Given the description of an element on the screen output the (x, y) to click on. 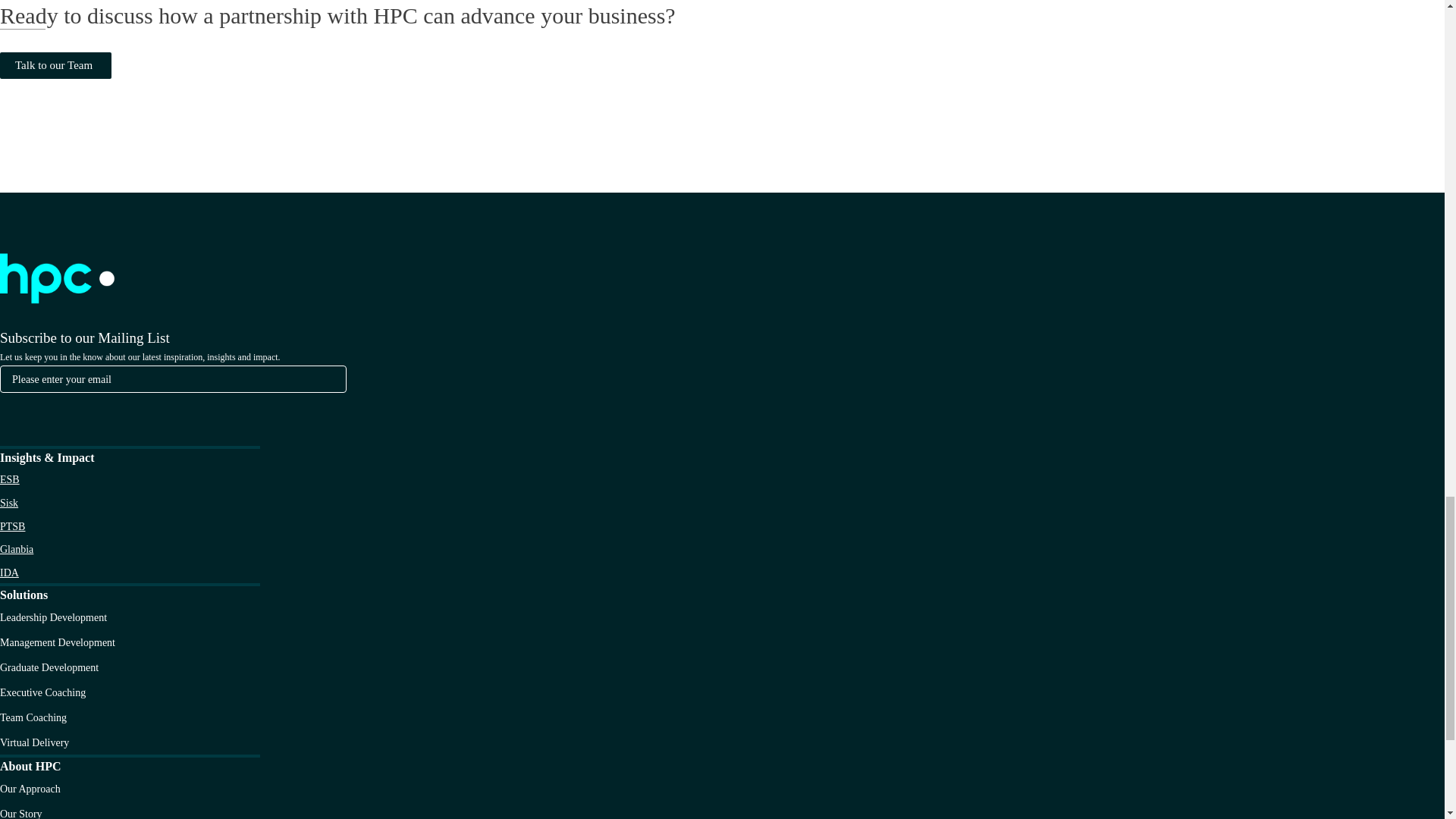
Glanbia (16, 549)
Talk to our Team (56, 65)
ESB (10, 479)
Talk to our Team (56, 64)
PTSB (12, 526)
Sisk (8, 502)
